Given the description of an element on the screen output the (x, y) to click on. 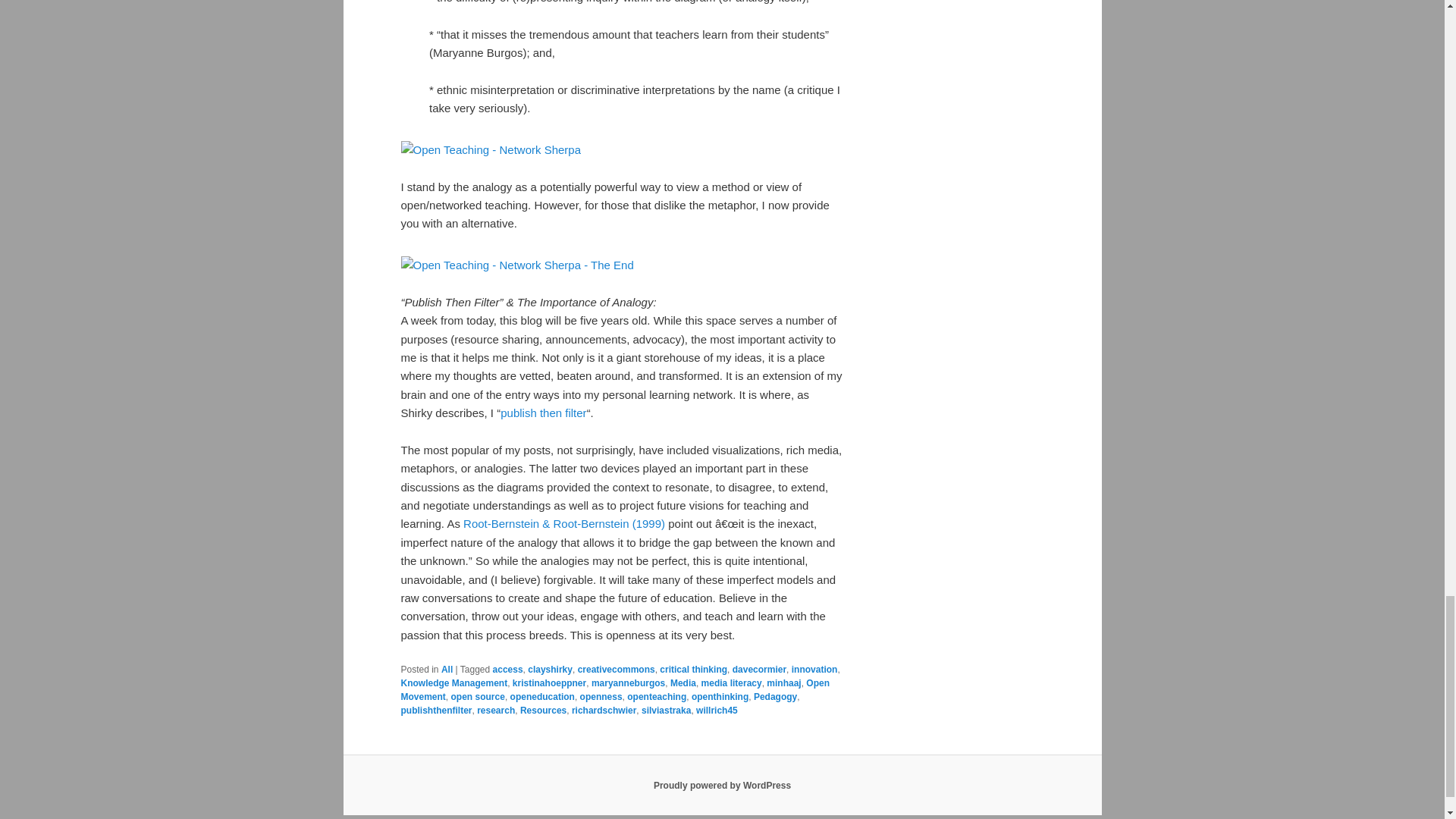
All (446, 669)
publish then filter (543, 412)
Open Teaching - Network Sherpa by courosa, on Flickr (490, 149)
davecormier (759, 669)
Semantic Personal Publishing Platform (721, 785)
critical thinking (692, 669)
clayshirky (549, 669)
creativecommons (616, 669)
access (507, 669)
